Given the description of an element on the screen output the (x, y) to click on. 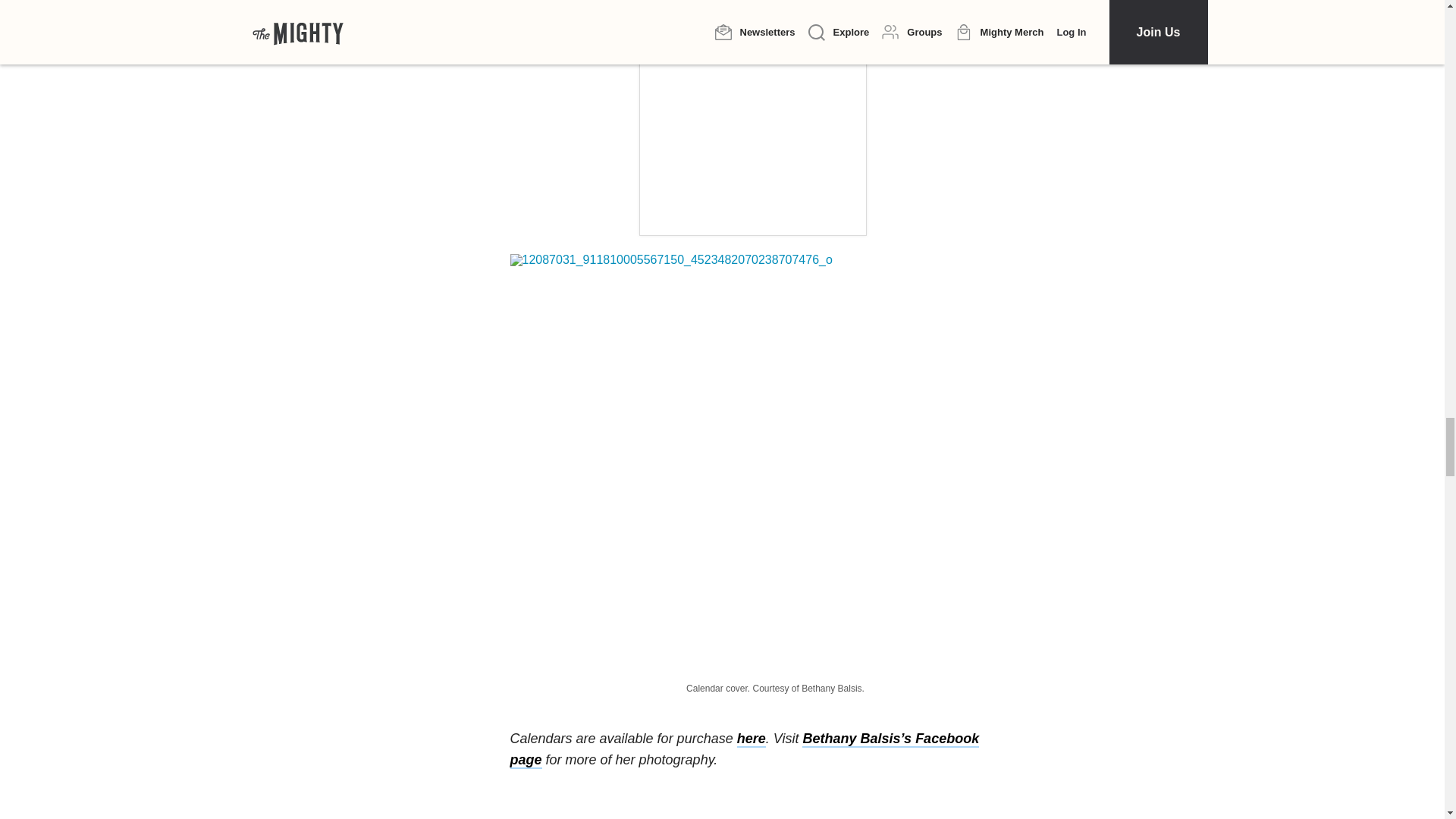
here (750, 739)
